Given the description of an element on the screen output the (x, y) to click on. 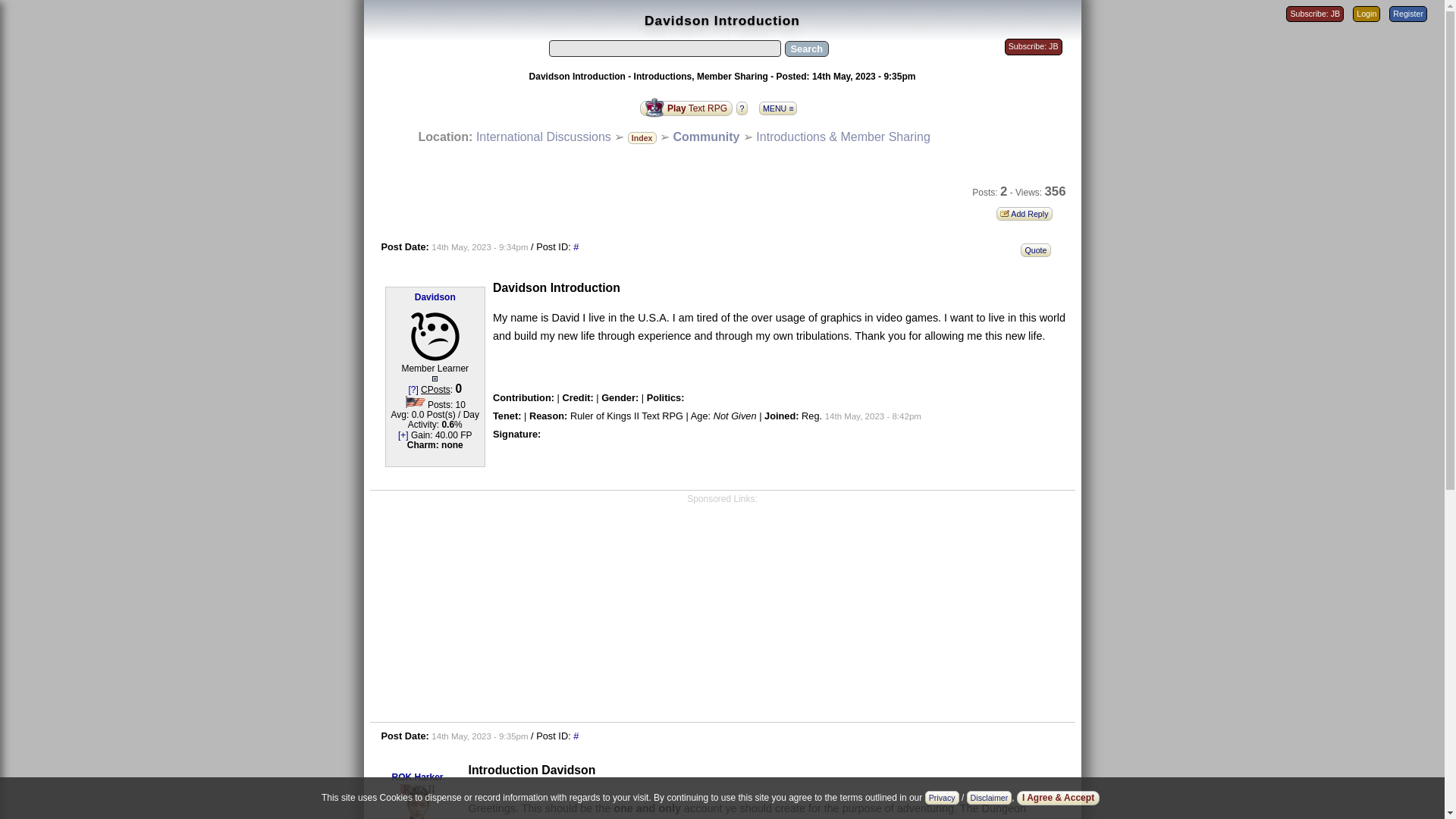
Play Text RPG (686, 106)
Quote (1039, 249)
Menu (781, 103)
Add Reply (1027, 212)
? (745, 106)
International Discussions (543, 136)
Search (806, 48)
Index (641, 136)
Search (806, 48)
Davidson (434, 296)
Home (543, 136)
Community (705, 136)
Reply to this topic (1027, 212)
